Given the description of an element on the screen output the (x, y) to click on. 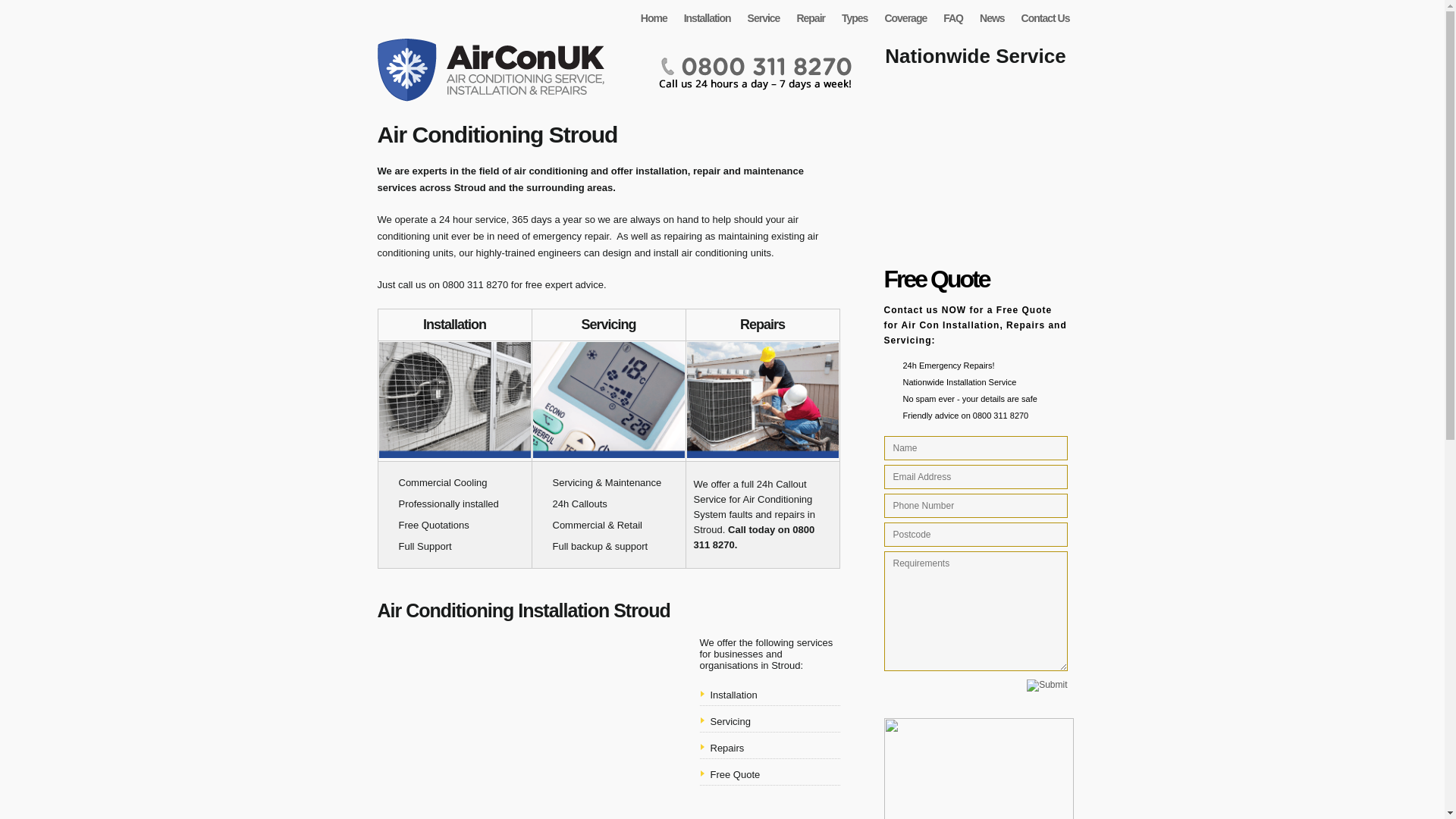
Types (855, 17)
FAQ (954, 17)
Service (764, 17)
News (992, 17)
Free Quote (735, 774)
Installation (733, 695)
Repair (811, 17)
Home (655, 17)
Coverage (906, 17)
Repairs (727, 747)
Contact Us (1045, 17)
Installation (708, 17)
Servicing (729, 721)
